Given the description of an element on the screen output the (x, y) to click on. 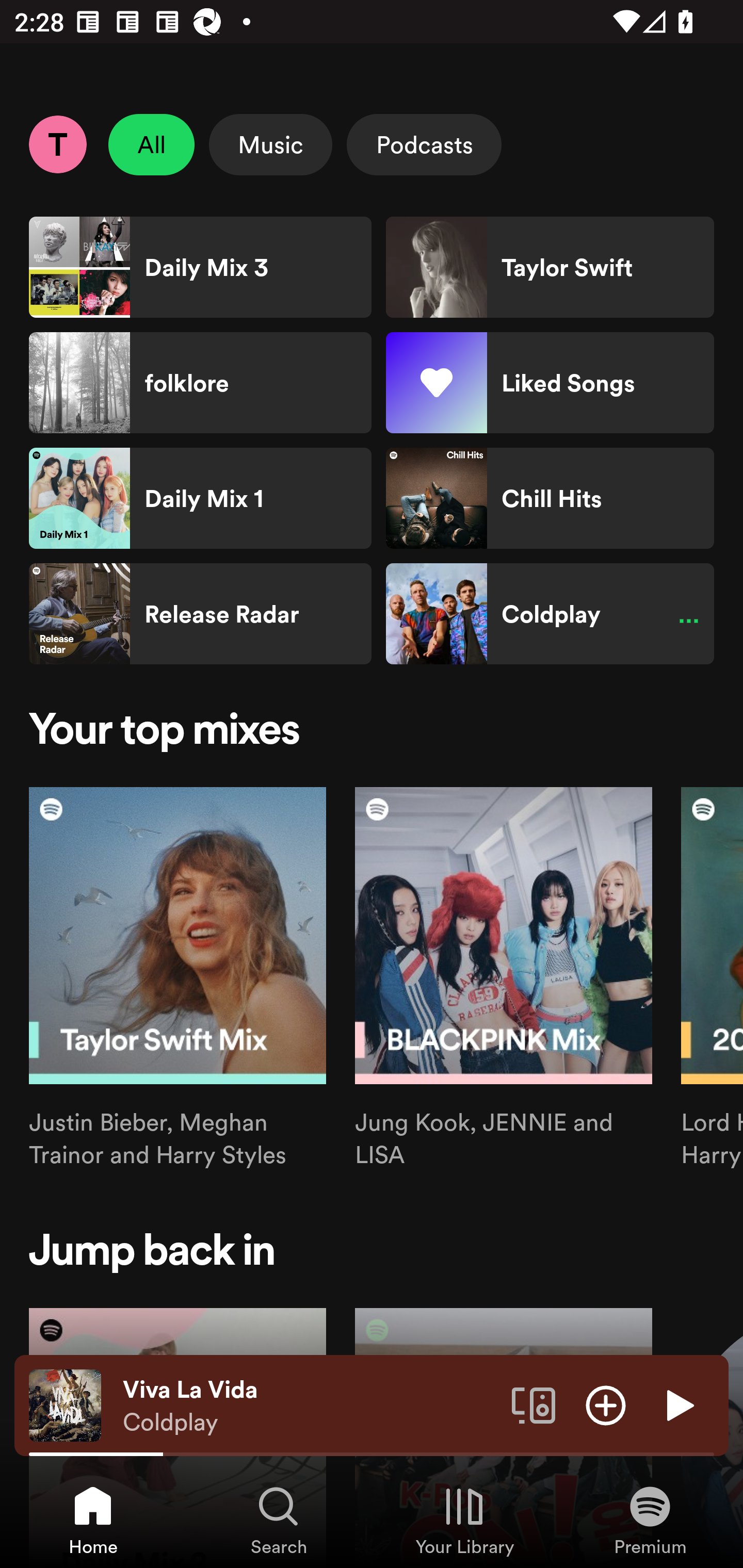
Profile (57, 144)
All Unselect All (151, 144)
Music Select Music (270, 144)
Podcasts Select Podcasts (423, 144)
Daily Mix 3 Shortcut Daily Mix 3 (199, 267)
Taylor Swift Shortcut Taylor Swift (549, 267)
folklore Shortcut folklore (199, 382)
Liked Songs Shortcut Liked Songs (549, 382)
Daily Mix 1 Shortcut Daily Mix 1 (199, 498)
Chill Hits Shortcut Chill Hits (549, 498)
Release Radar Shortcut Release Radar (199, 613)
Coldplay Shortcut Coldplay Paused (549, 613)
Viva La Vida Coldplay (309, 1405)
The cover art of the currently playing track (64, 1404)
Connect to a device. Opens the devices menu (533, 1404)
Add item (605, 1404)
Play (677, 1404)
Home, Tab 1 of 4 Home Home (92, 1519)
Search, Tab 2 of 4 Search Search (278, 1519)
Your Library, Tab 3 of 4 Your Library Your Library (464, 1519)
Premium, Tab 4 of 4 Premium Premium (650, 1519)
